Given the description of an element on the screen output the (x, y) to click on. 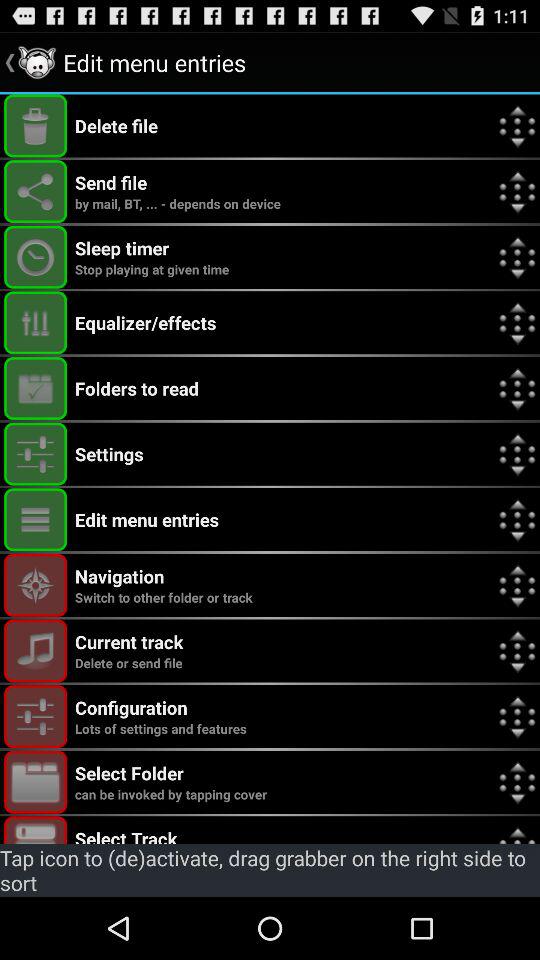
select track option (35, 829)
